Given the description of an element on the screen output the (x, y) to click on. 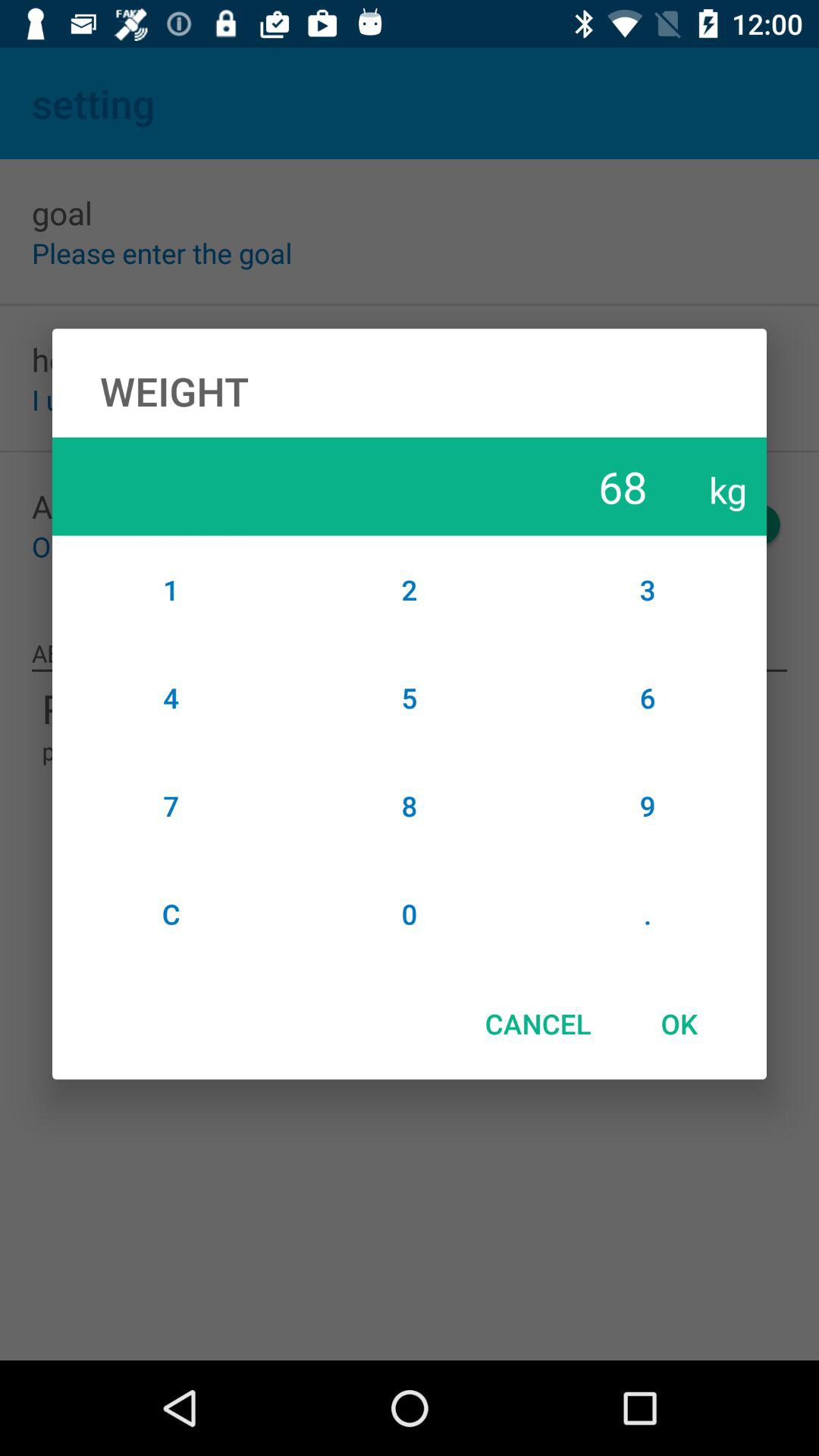
open the icon below 0 item (538, 1023)
